Given the description of an element on the screen output the (x, y) to click on. 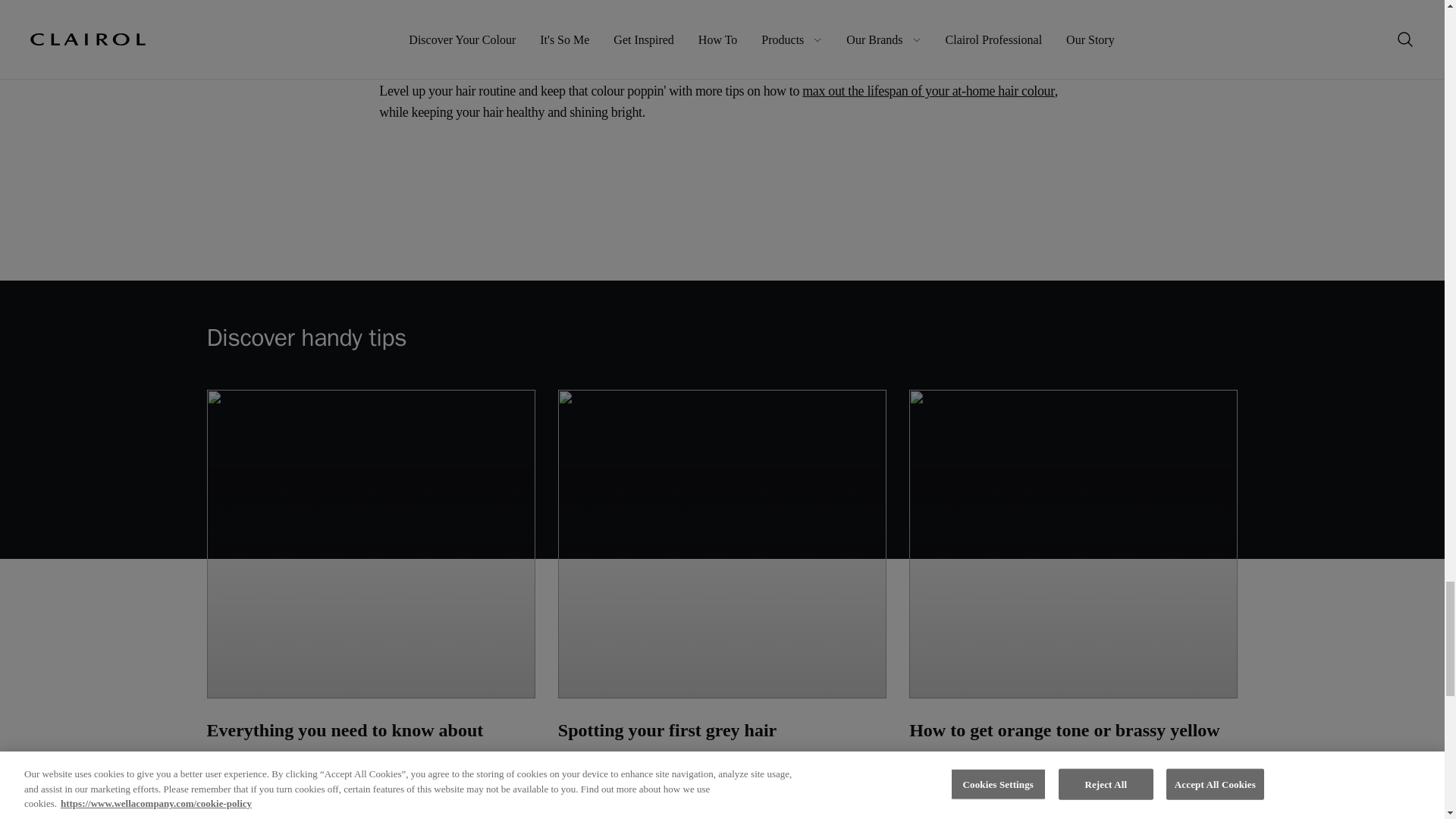
max out the lifespan of your at-home hair colour (928, 90)
